Given the description of an element on the screen output the (x, y) to click on. 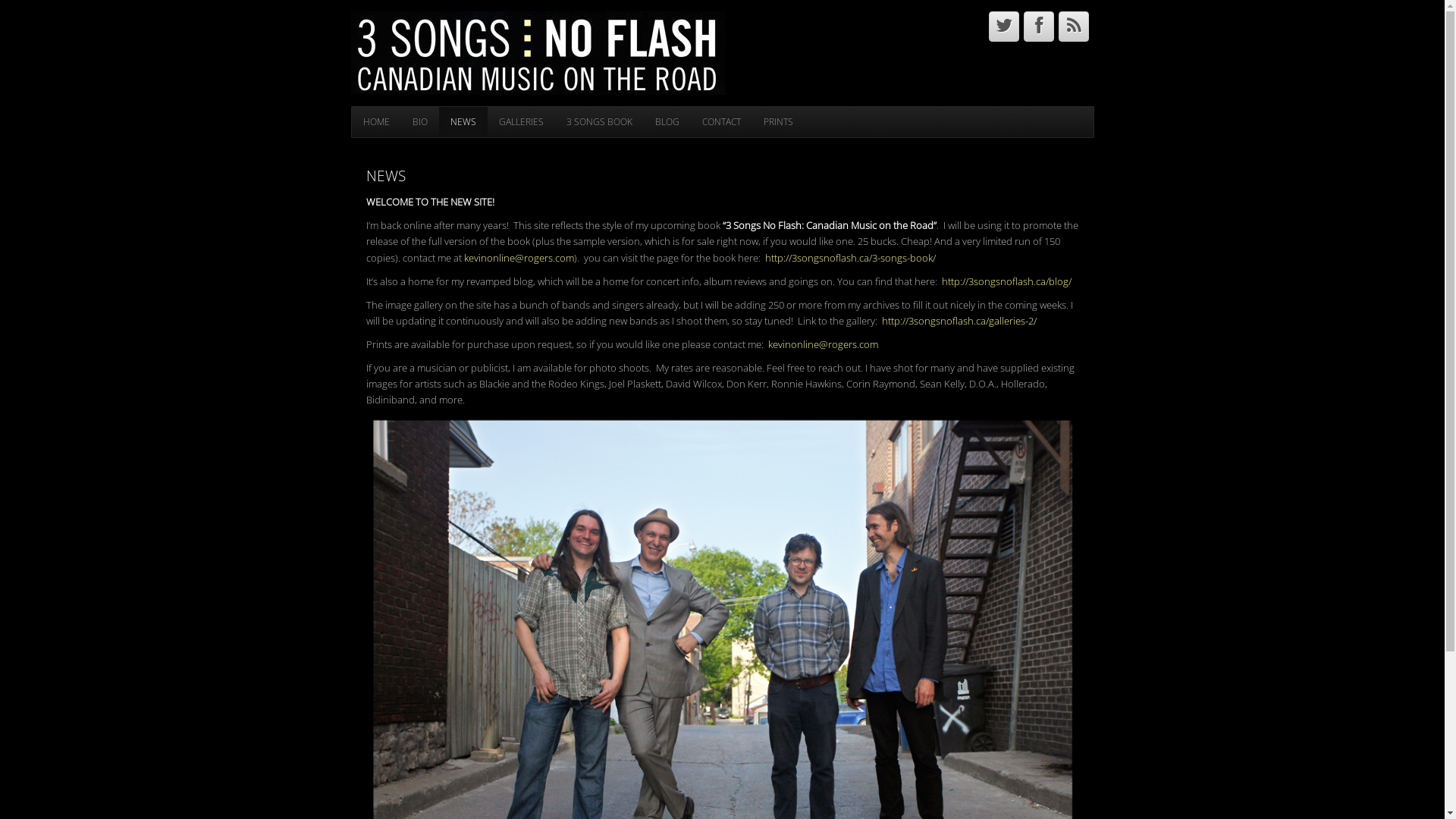
BIO Element type: text (419, 121)
CONTACT Element type: text (720, 121)
http://3songsnoflash.ca/3-songs-book/ Element type: text (849, 257)
3 Songs No Flash Element type: hover (537, 51)
BLOG Element type: text (666, 121)
3 SONGS BOOK Element type: text (599, 121)
3 Songs No Flash Rss Element type: hover (1073, 26)
3 Songs No Flash Twitter Element type: hover (1003, 26)
http://3songsnoflash.ca/blog/ Element type: text (1006, 281)
NEWS Element type: text (462, 121)
PRINTS Element type: text (778, 121)
GALLERIES Element type: text (520, 121)
3 Songs No Flash Facebook Element type: hover (1038, 26)
http://3songsnoflash.ca/galleries-2/ Element type: text (958, 320)
HOME Element type: text (376, 121)
